Given the description of an element on the screen output the (x, y) to click on. 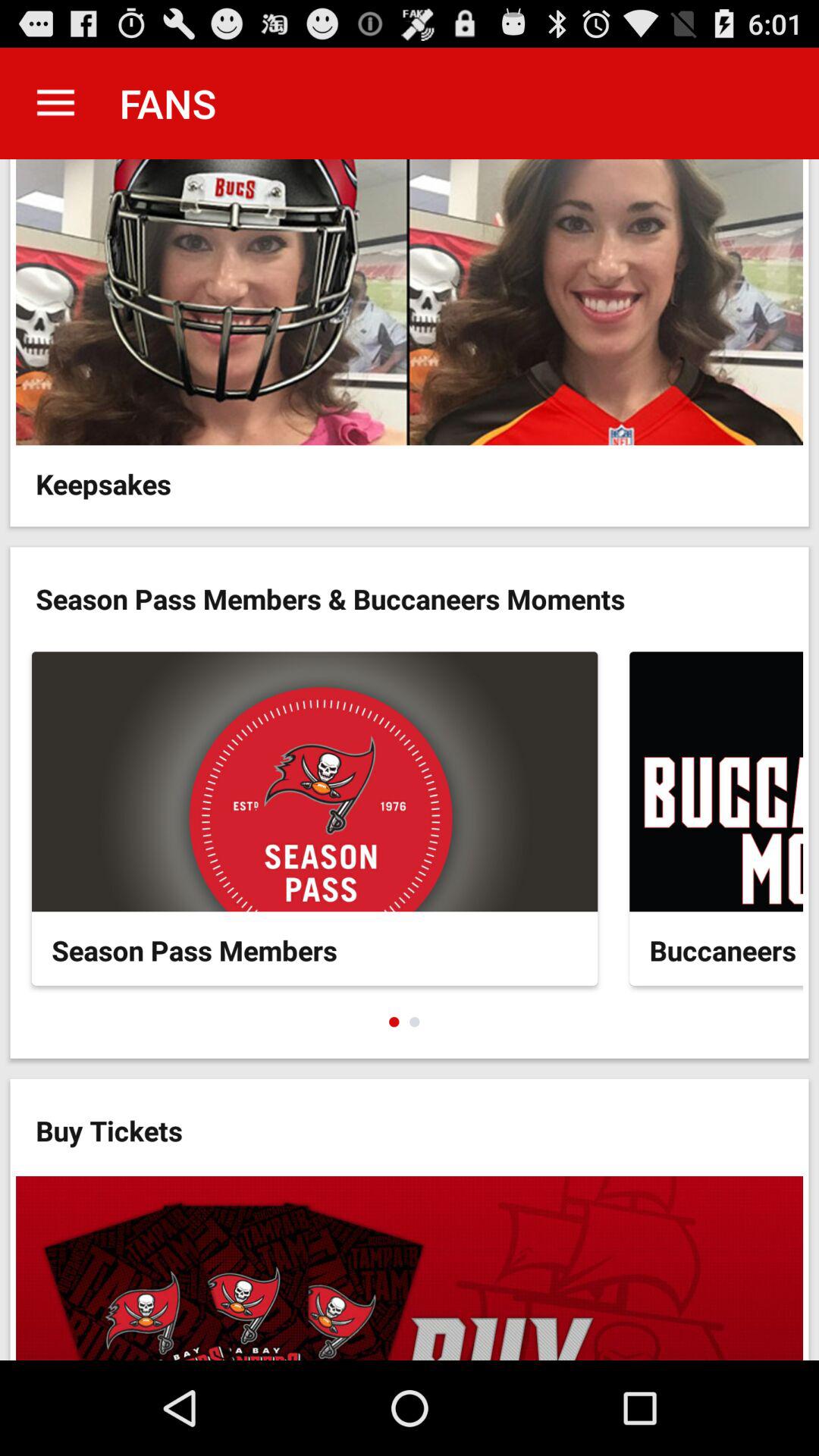
click the app next to the fans app (55, 103)
